Given the description of an element on the screen output the (x, y) to click on. 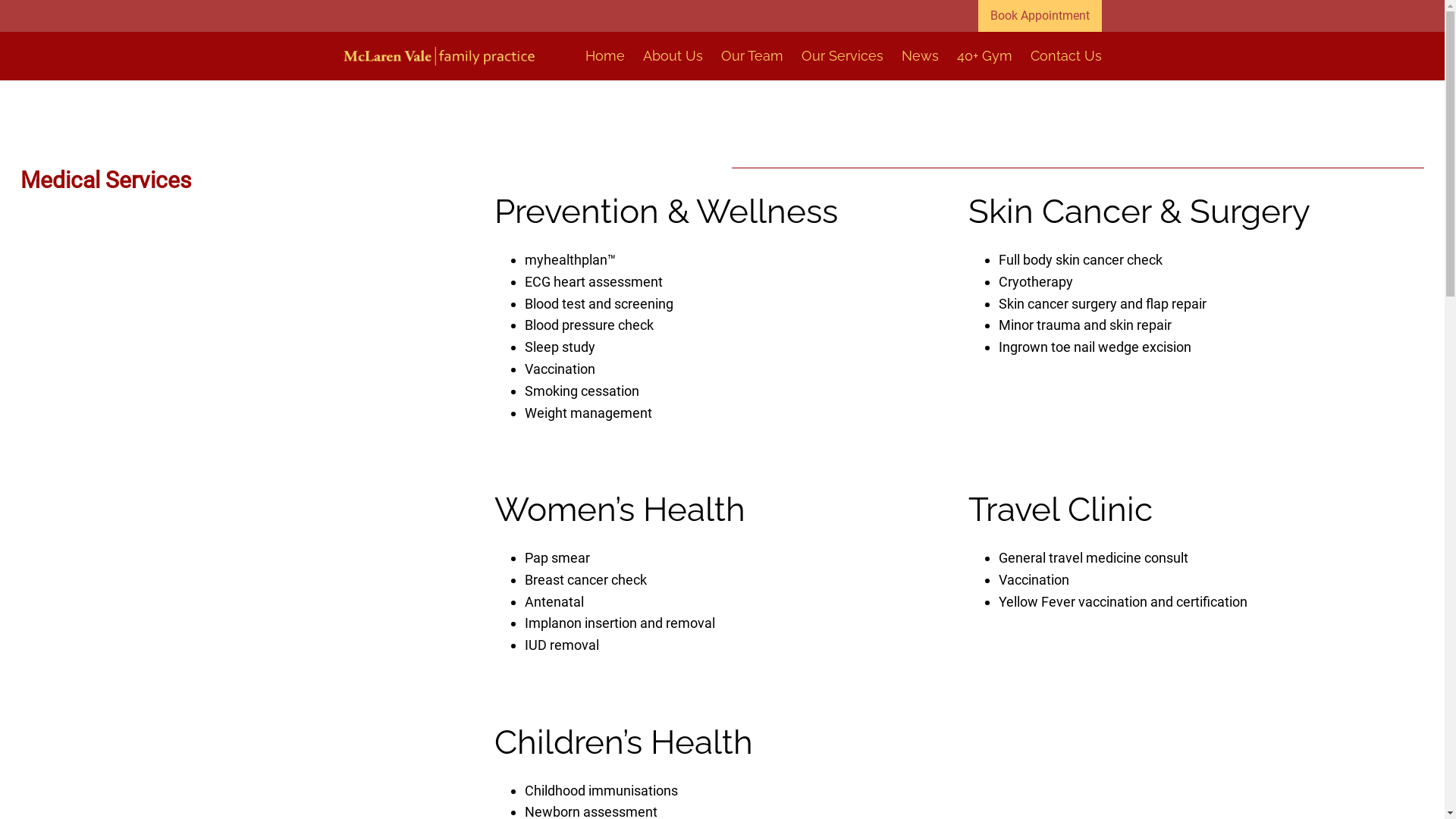
40+ Gym Element type: text (984, 56)
About Us Element type: text (672, 56)
News Element type: text (919, 56)
Contact Us Element type: text (1065, 56)
Home Element type: text (604, 56)
Our Team Element type: text (751, 56)
Book Appointment Element type: text (1039, 15)
Our Services Element type: text (841, 56)
